Given the description of an element on the screen output the (x, y) to click on. 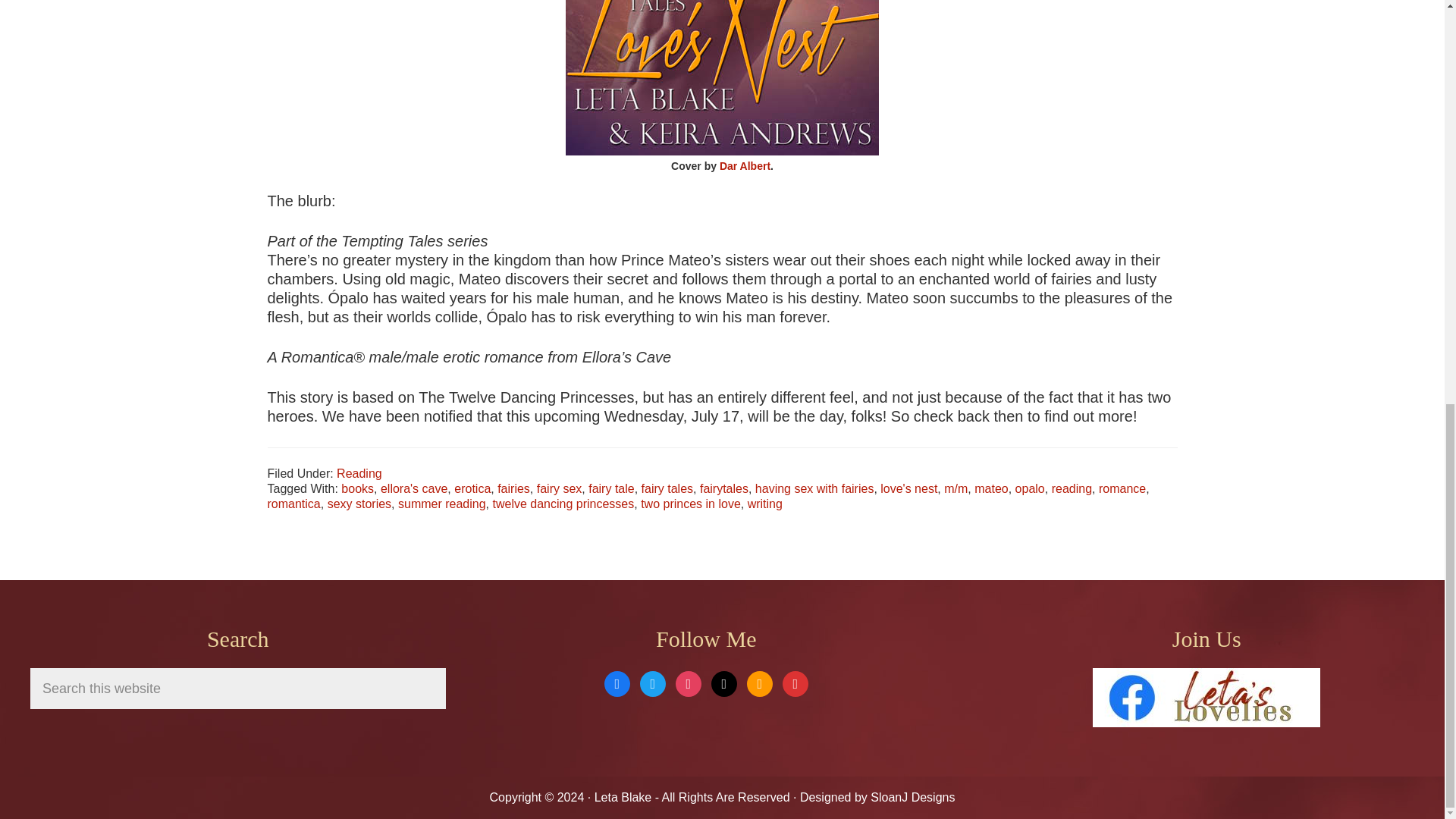
Default Label (759, 682)
Default Label (795, 682)
Default Label (723, 682)
Facebook (617, 682)
Instagram (688, 682)
Twitter (652, 682)
